Given the description of an element on the screen output the (x, y) to click on. 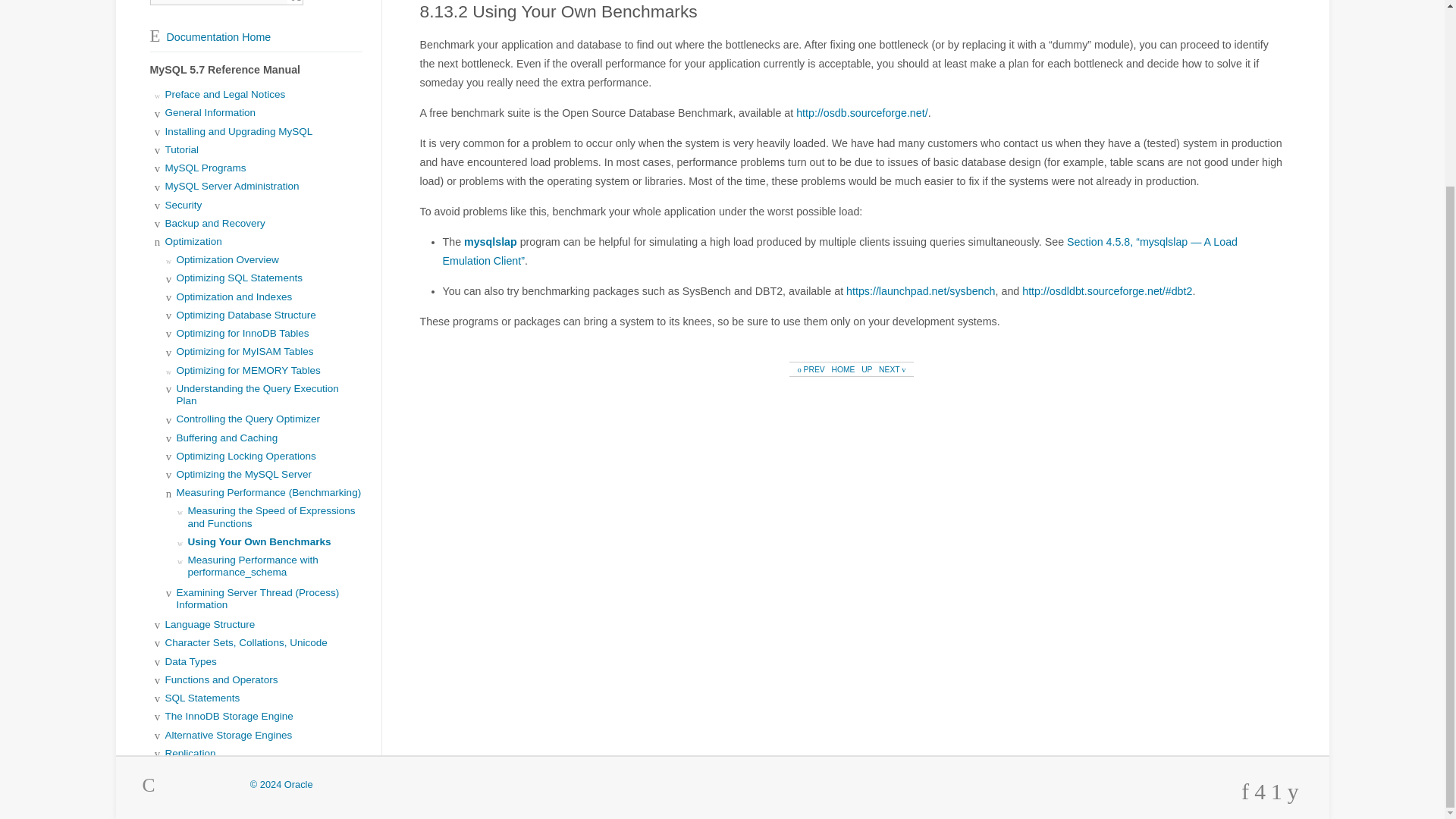
General Information (210, 112)
Preface and Legal Notices (225, 93)
Documentation Home (209, 37)
Installing and Upgrading MySQL (239, 131)
Search (295, 2)
Search this Manual (217, 2)
Search this Manual (217, 2)
